Given the description of an element on the screen output the (x, y) to click on. 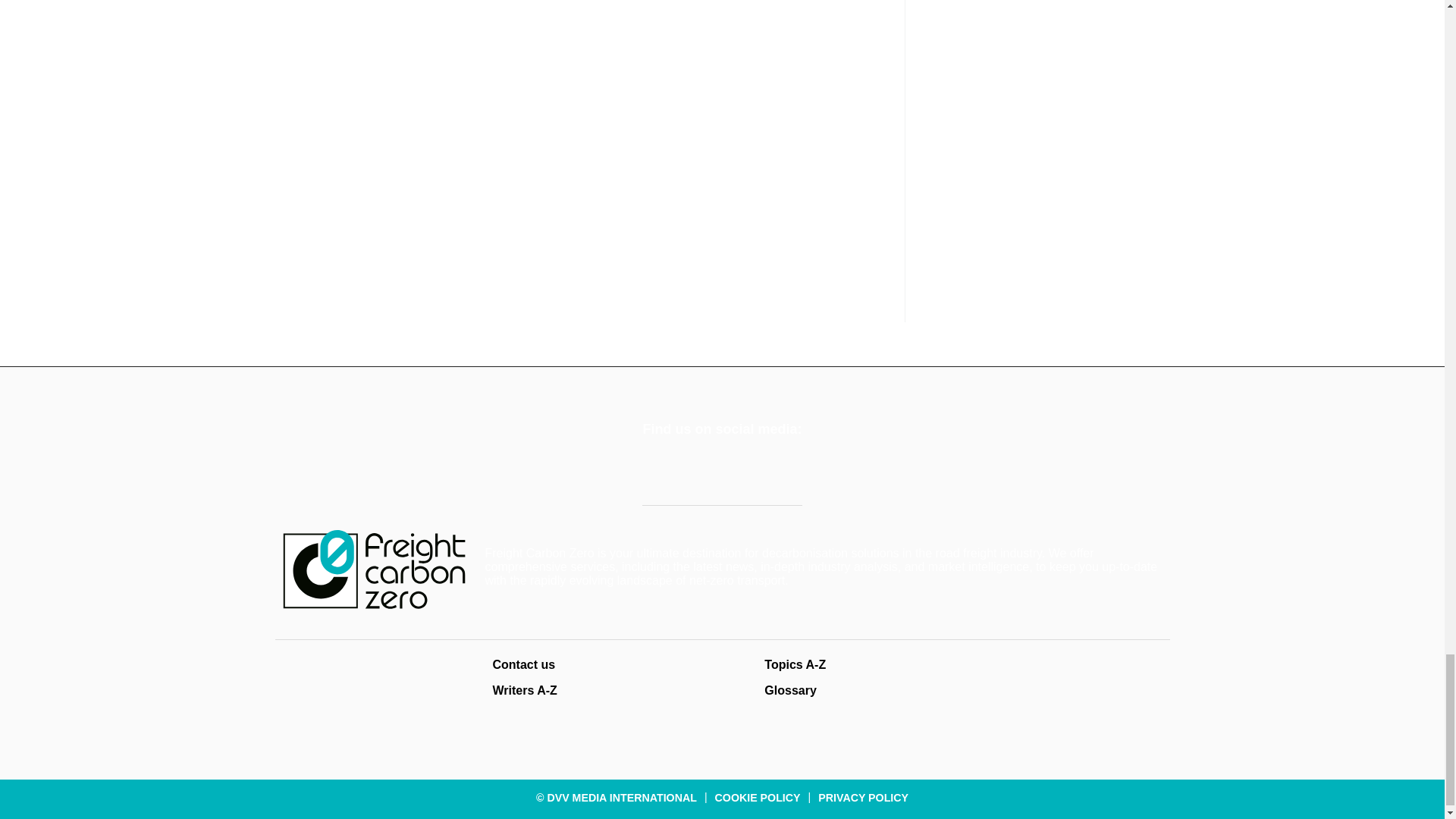
Email us (737, 468)
Connect with us on Twitter (658, 468)
Connect with us on Linked In (697, 468)
